Given the description of an element on the screen output the (x, y) to click on. 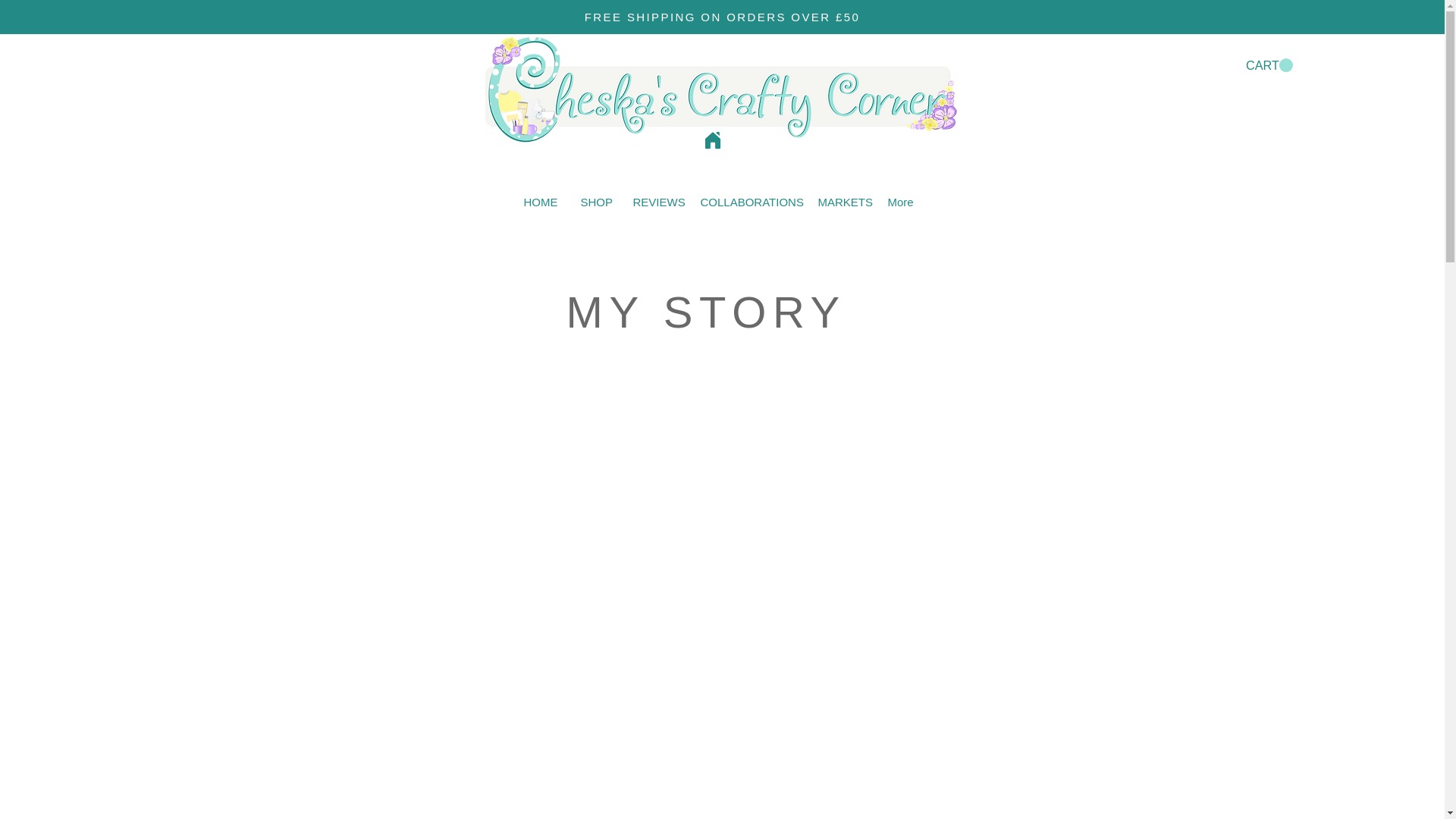
SHOP (595, 202)
CART (1269, 65)
COLLABORATIONS (747, 202)
CART (1269, 65)
HOME (540, 202)
REVIEWS (654, 202)
MARKETS (841, 202)
